Given the description of an element on the screen output the (x, y) to click on. 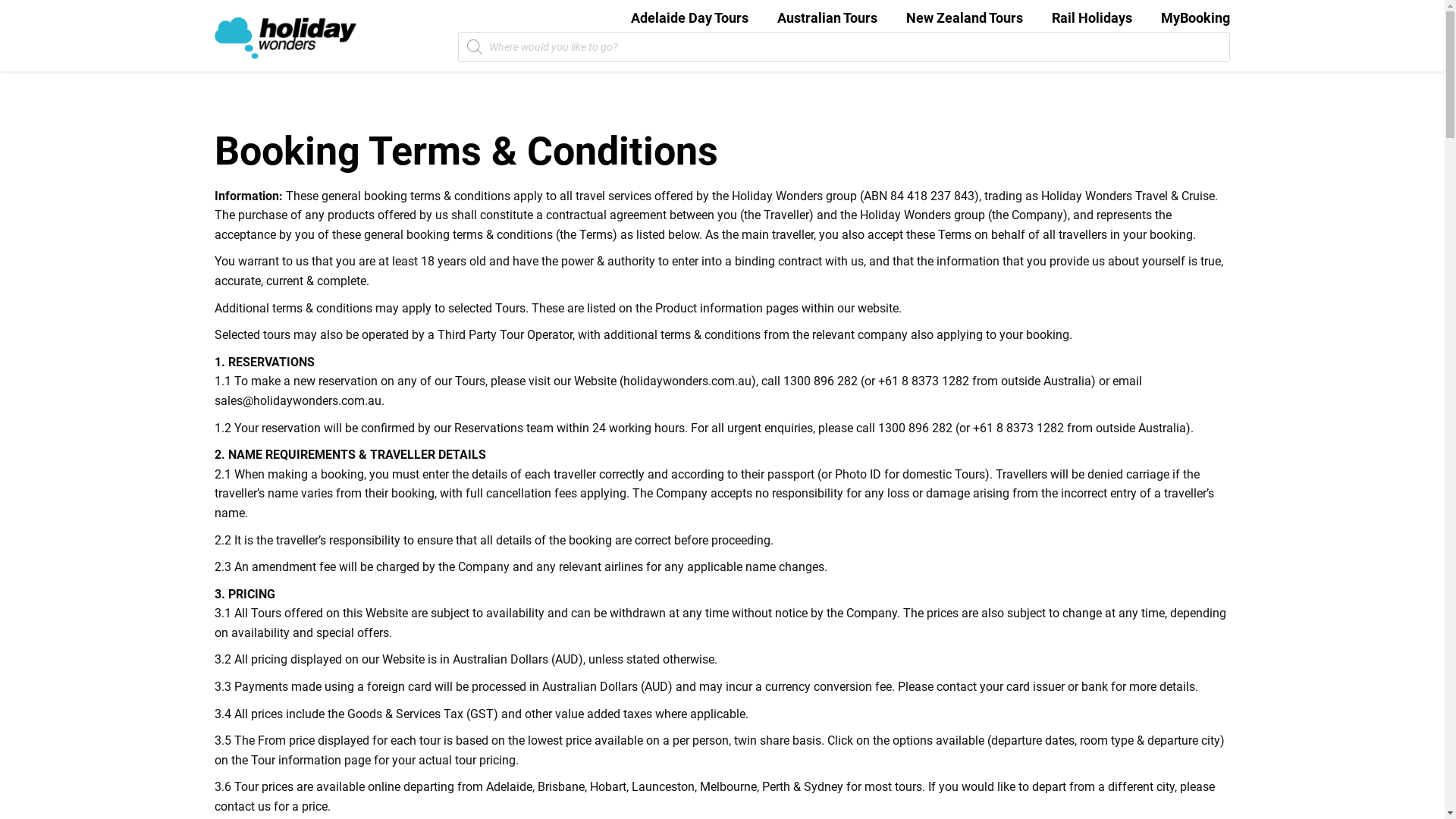
MyBooking Element type: text (1195, 18)
Adelaide Day Tours Element type: text (689, 18)
Australian Tours Element type: text (827, 18)
New Zealand Tours Element type: text (964, 18)
Rail Holidays Element type: text (1091, 18)
